Given the description of an element on the screen output the (x, y) to click on. 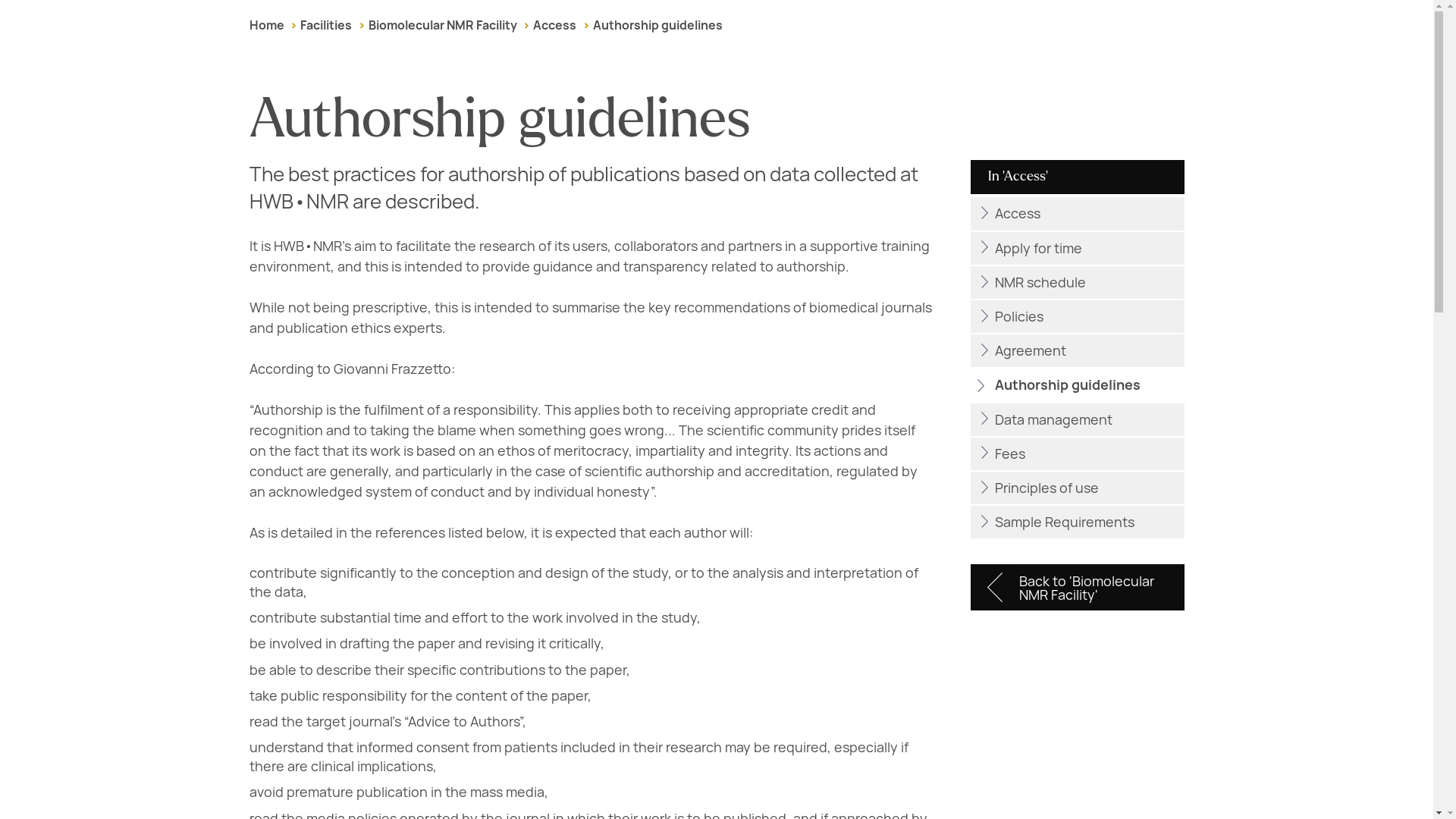
Policies (1077, 316)
Home (265, 25)
Principles of use (1077, 487)
Authorship guidelines (1077, 384)
Access (554, 25)
Access (1077, 213)
Authorship guidelines (657, 25)
Back to 'Biomolecular NMR Facility' (1077, 587)
NMR schedule (1077, 282)
Facilities (325, 25)
Agreement (1077, 350)
Sample Requirements (1077, 522)
Apply for time (1077, 247)
Biomolecular NMR Facility (442, 25)
Data management (1077, 419)
